Given the description of an element on the screen output the (x, y) to click on. 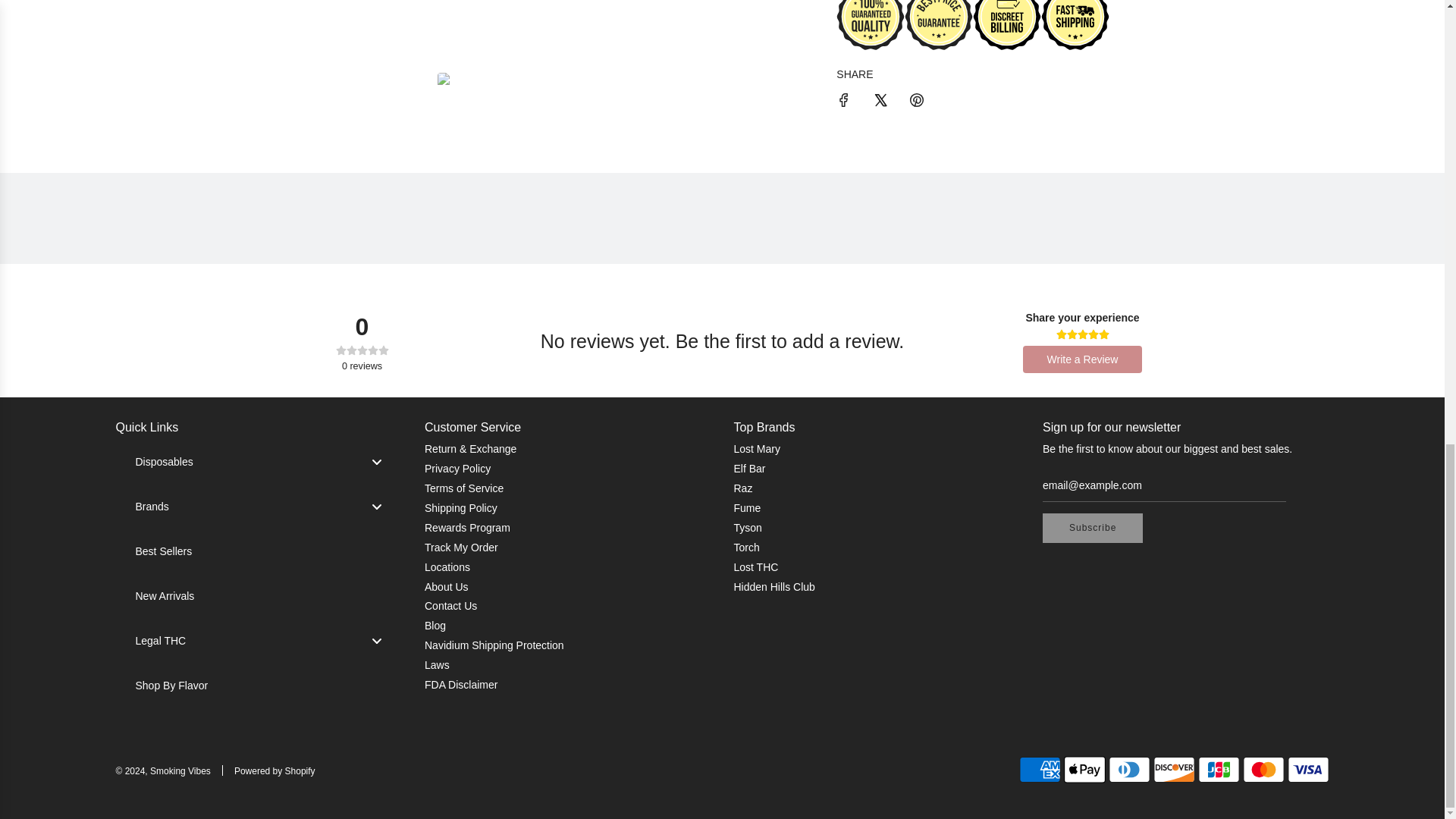
Toggle menu (376, 640)
Toggle menu (376, 506)
Toggle menu (376, 462)
